Given the description of an element on the screen output the (x, y) to click on. 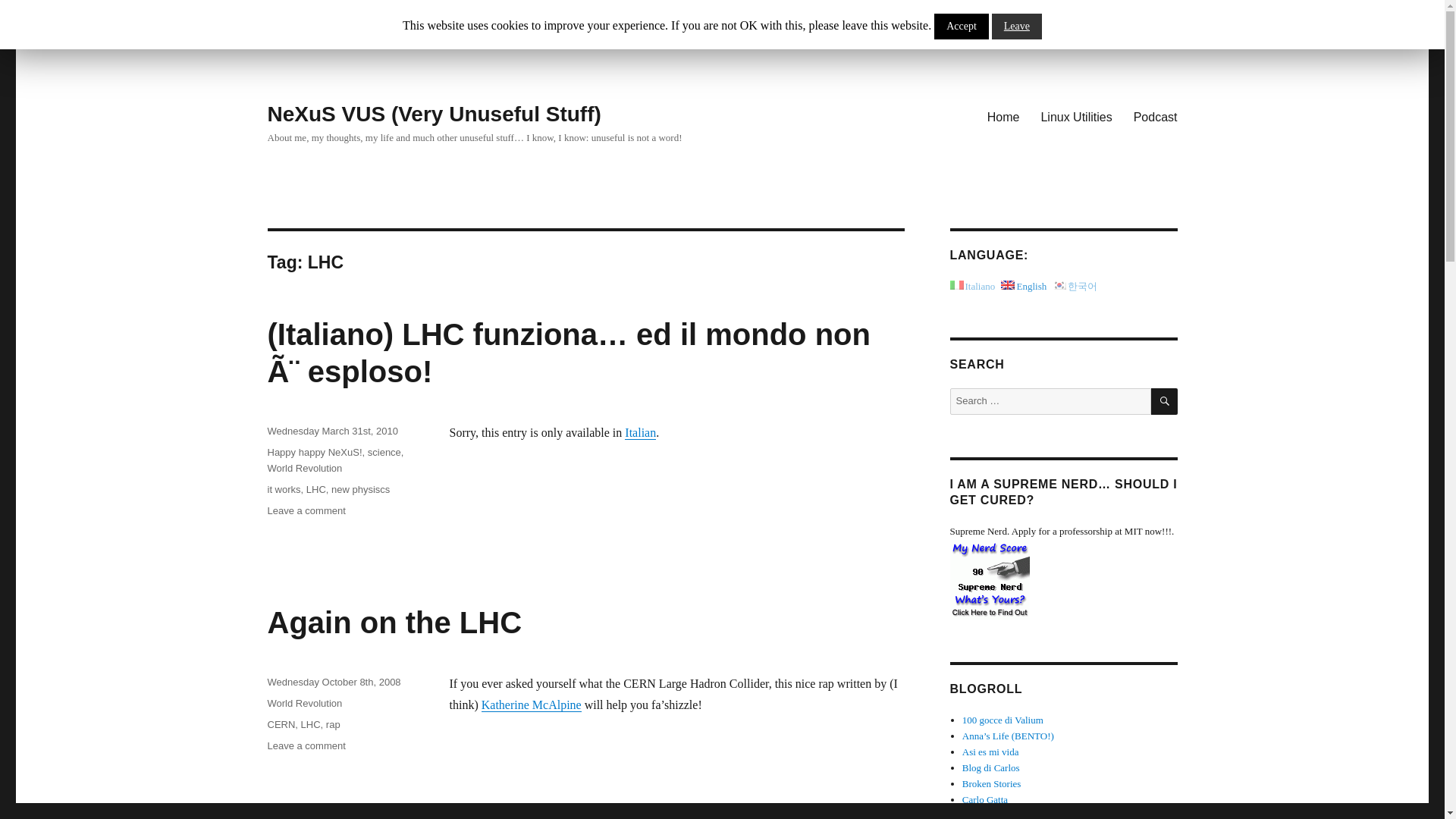
Italian (640, 431)
World Revolution (304, 703)
Again on the LHC (393, 622)
Italiano (640, 431)
Bento and bento boxes! (1008, 736)
Happy happy NeXuS! (313, 451)
LHC (310, 724)
Italiano (971, 285)
CERN (280, 724)
Another page from Rachel (992, 783)
Linux Utilities (1075, 116)
Katherine McAlpine (530, 704)
Home (305, 745)
English (1003, 116)
